Given the description of an element on the screen output the (x, y) to click on. 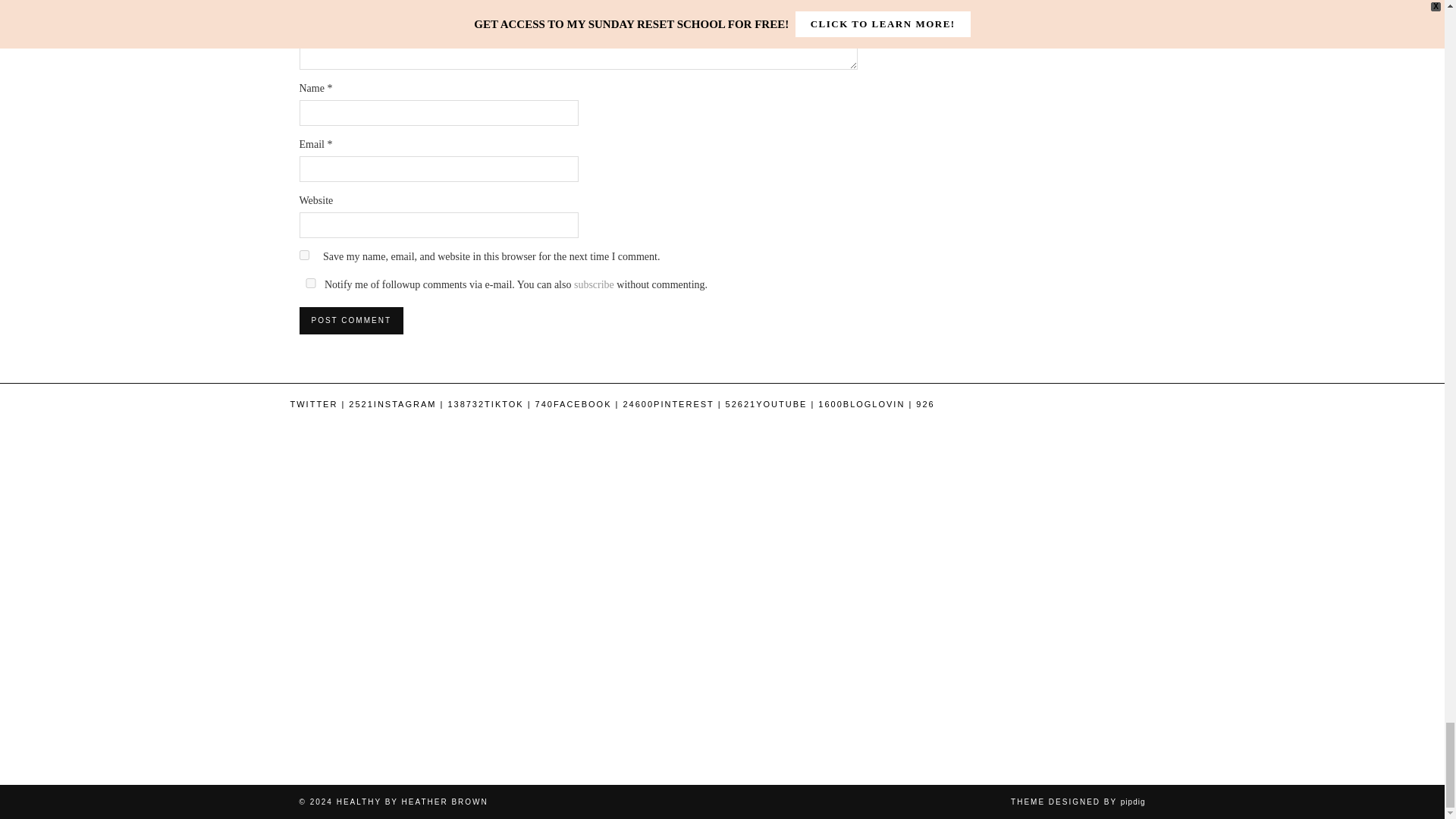
yes (303, 255)
Post Comment (350, 320)
yes (309, 283)
